Given the description of an element on the screen output the (x, y) to click on. 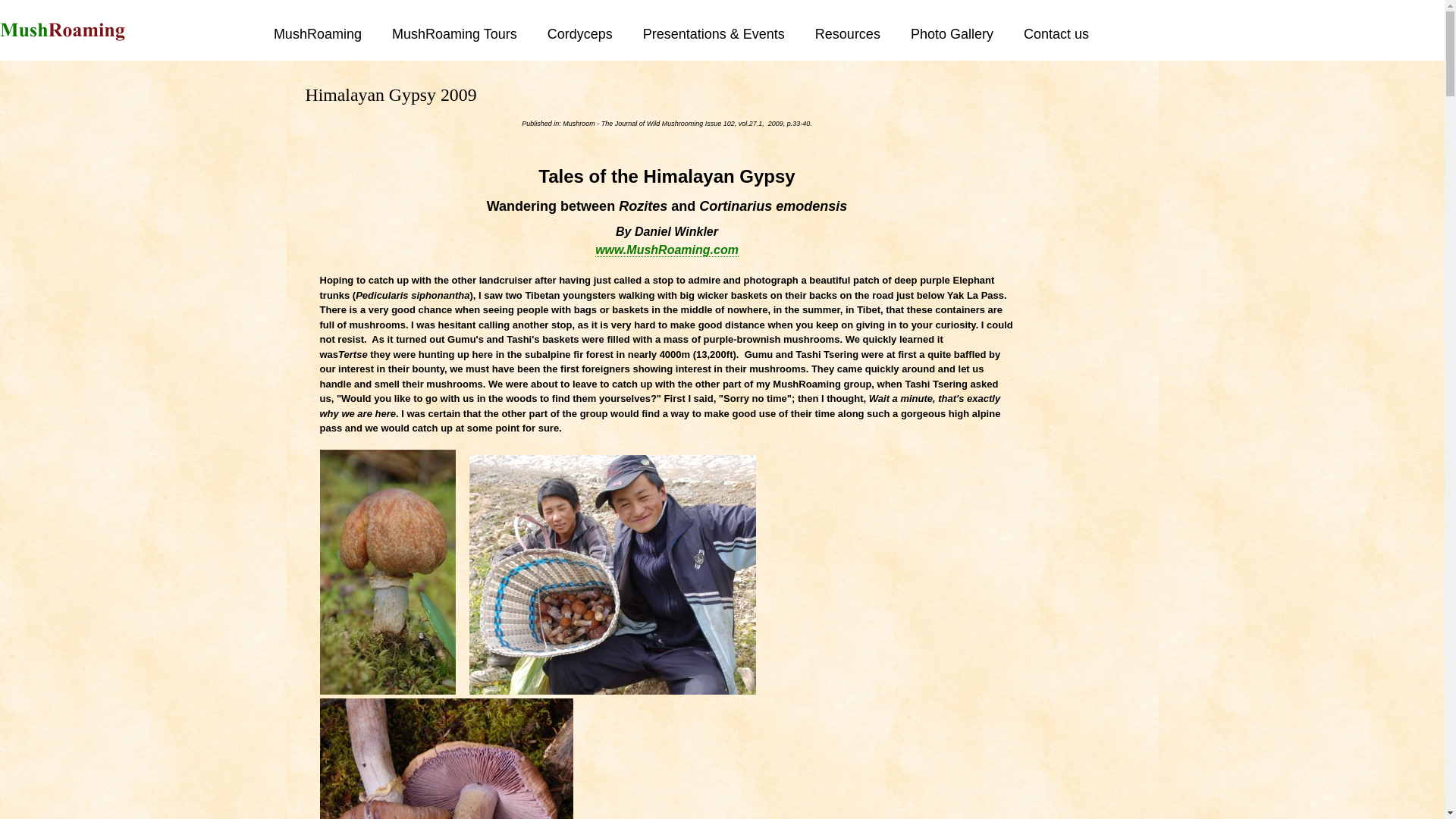
MushRoaming Tours (469, 33)
Skip to main content (722, 1)
MushRoaming (332, 33)
